Given the description of an element on the screen output the (x, y) to click on. 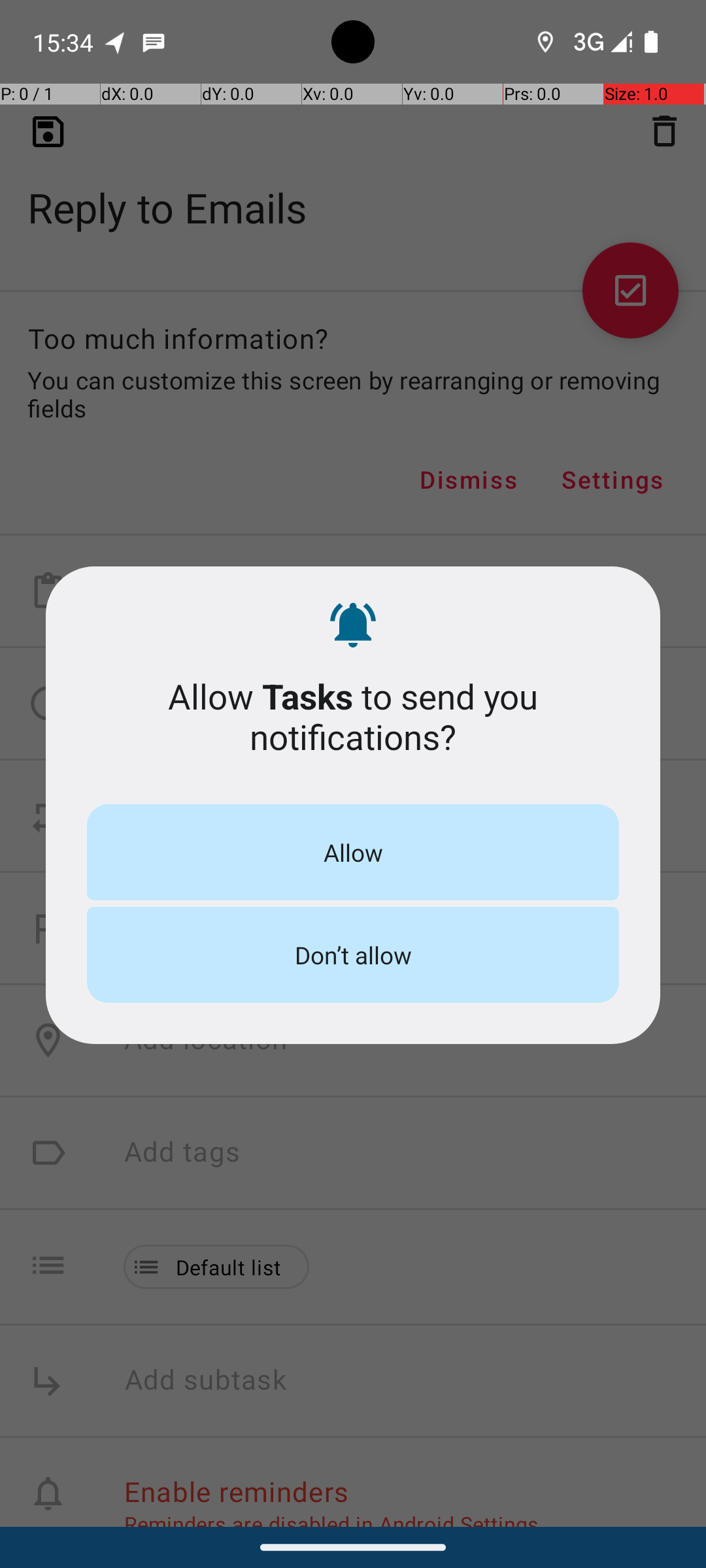
Allow Tasks to send you notifications? Element type: android.widget.TextView (352, 715)
Allow Element type: android.widget.Button (352, 852)
